Given the description of an element on the screen output the (x, y) to click on. 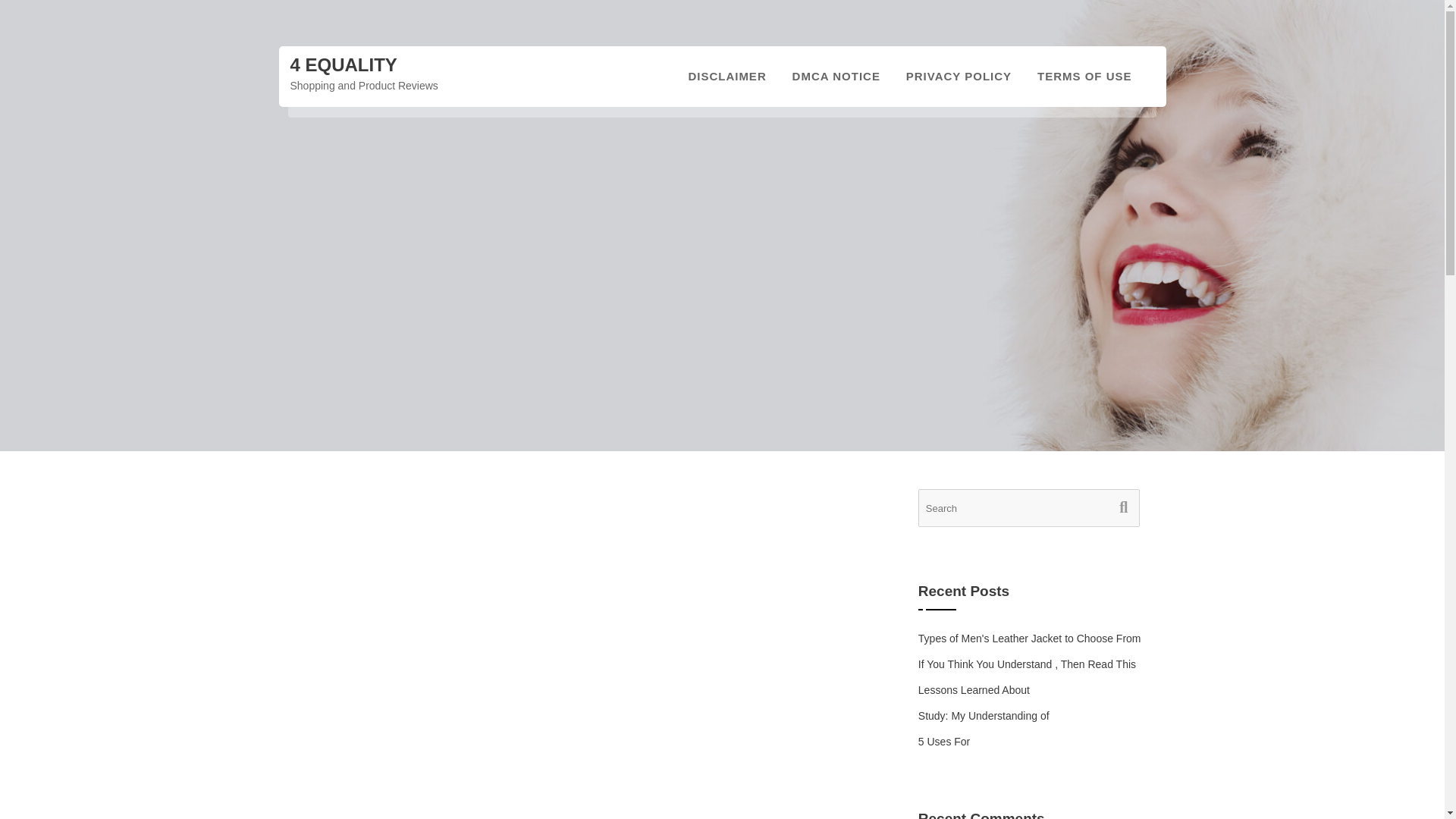
Study: My Understanding of (983, 715)
PRIVACY POLICY (959, 76)
4 Equality (342, 64)
5 Uses For (943, 741)
4 EQUALITY (342, 64)
Lessons Learned About (973, 689)
DISCLAIMER (727, 76)
If You Think You Understand , Then Read This (1026, 664)
TERMS OF USE (1084, 76)
DMCA NOTICE (835, 76)
